Given the description of an element on the screen output the (x, y) to click on. 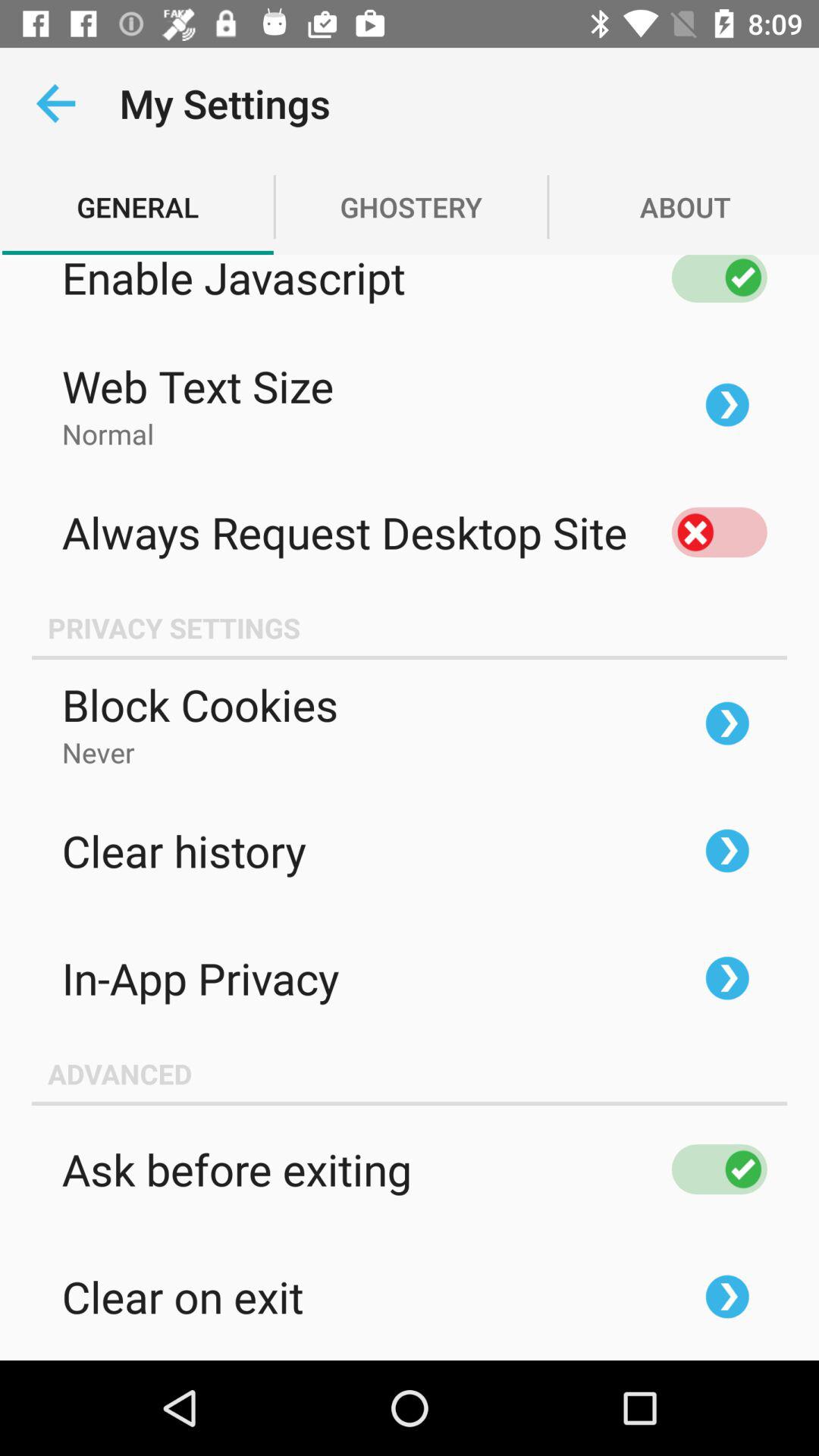
enable javascript (719, 278)
